Given the description of an element on the screen output the (x, y) to click on. 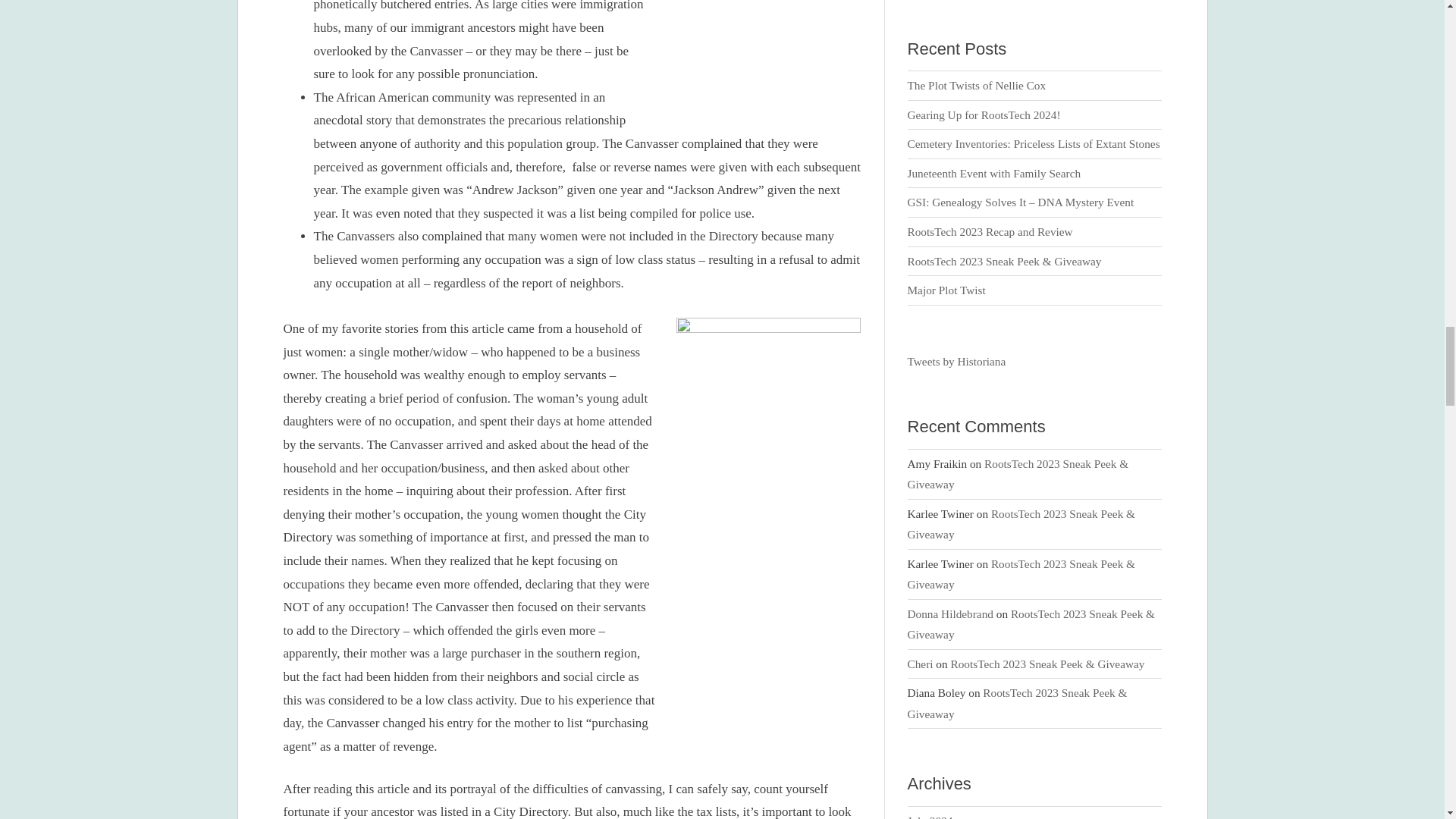
RootsTech 2023 Recap and Review (990, 231)
The Plot Twists of Nellie Cox (976, 84)
Gearing Up for RootsTech 2024! (984, 114)
Juneteenth Event with Family Search (994, 173)
Cemetery Inventories: Priceless Lists of Extant Stones (1033, 143)
